Given the description of an element on the screen output the (x, y) to click on. 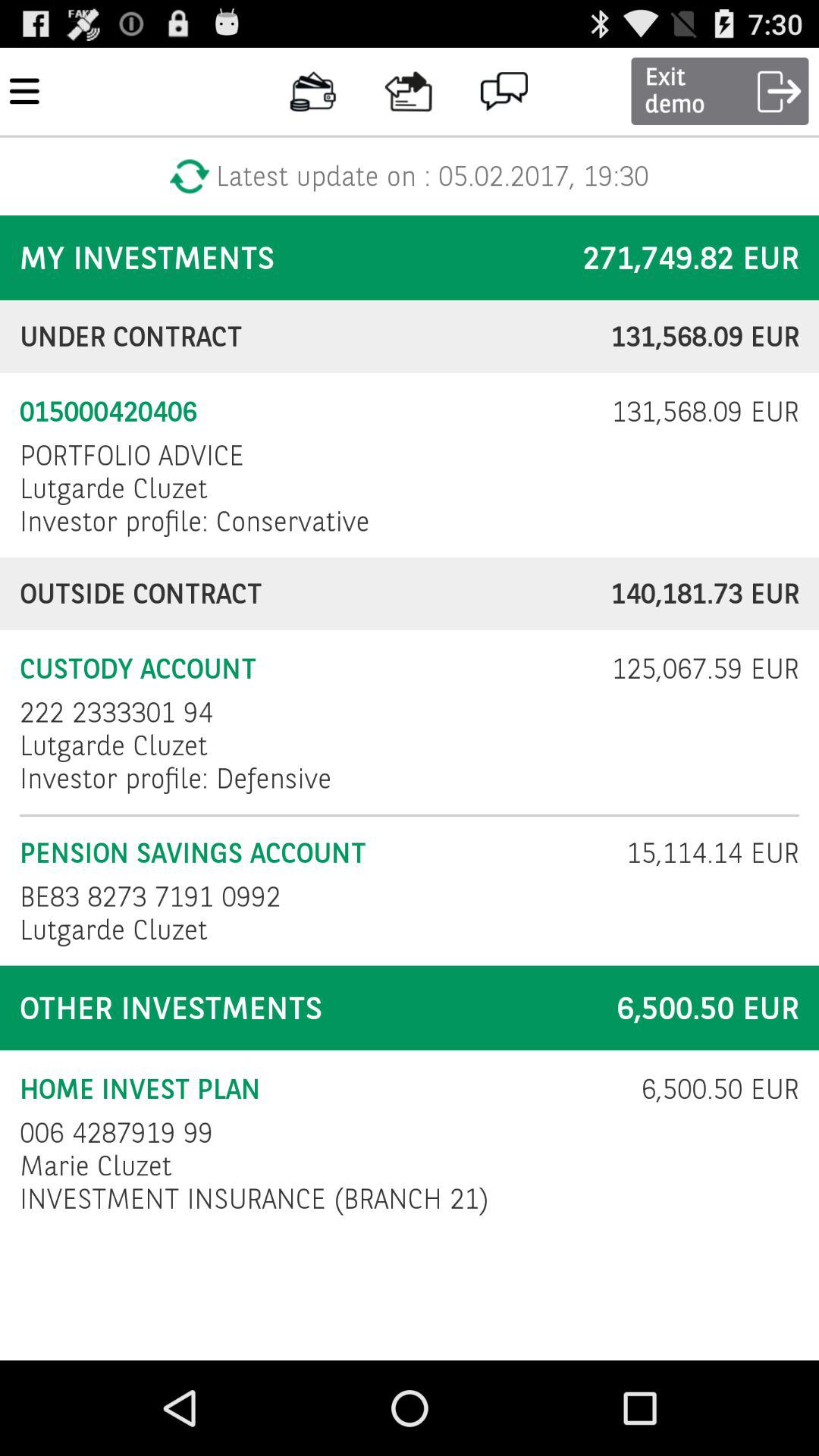
launch the pension savings account icon (312, 853)
